Given the description of an element on the screen output the (x, y) to click on. 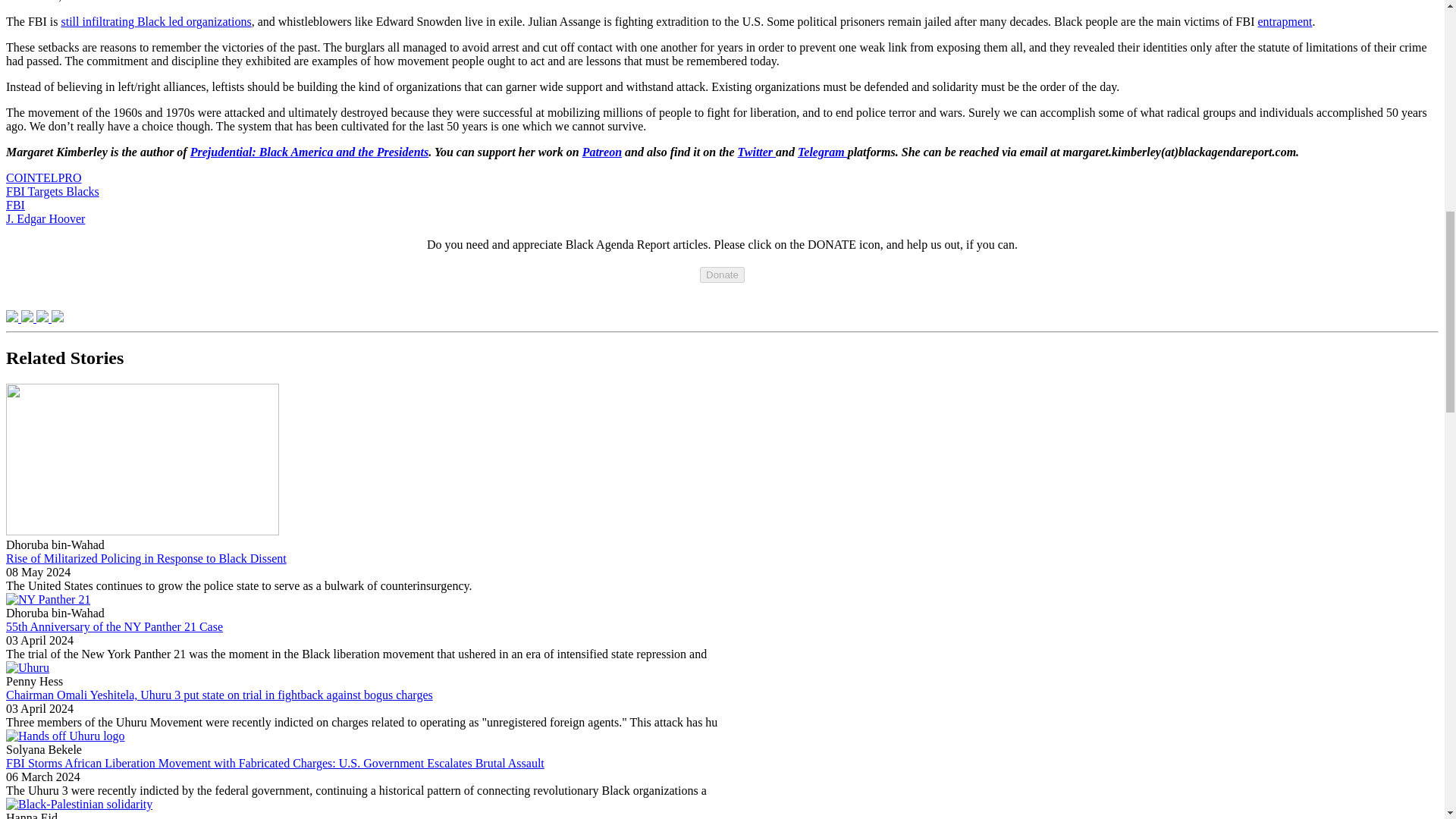
FBI Targets Blacks (52, 191)
FBI (14, 205)
COINTELPRO (43, 177)
entrapment (1284, 21)
Donate (722, 273)
Twitter  (757, 151)
Prejudential: Black America and the Presidents (309, 151)
J. Edgar Hoover (44, 218)
Telegram  (822, 151)
Donate (722, 274)
still infiltrating Black led organizations (155, 21)
Patreon (601, 151)
